Given the description of an element on the screen output the (x, y) to click on. 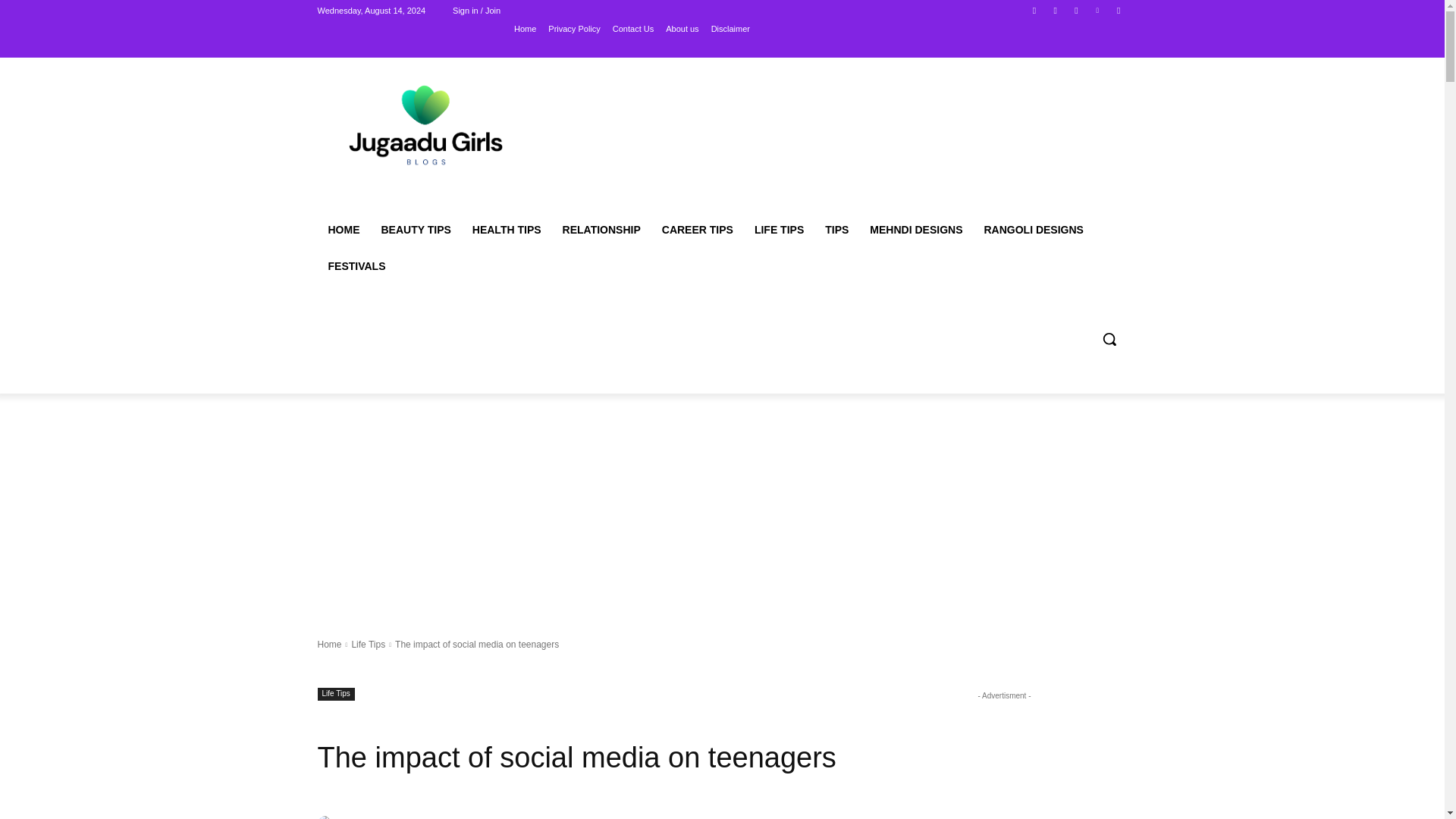
RANGOLI DESIGNS (1032, 229)
LIFE TIPS (778, 229)
About us (681, 28)
Youtube (1117, 9)
TIPS (836, 229)
Life Tips (367, 644)
Home (328, 644)
FESTIVALS (356, 266)
pooja (326, 817)
